Given the description of an element on the screen output the (x, y) to click on. 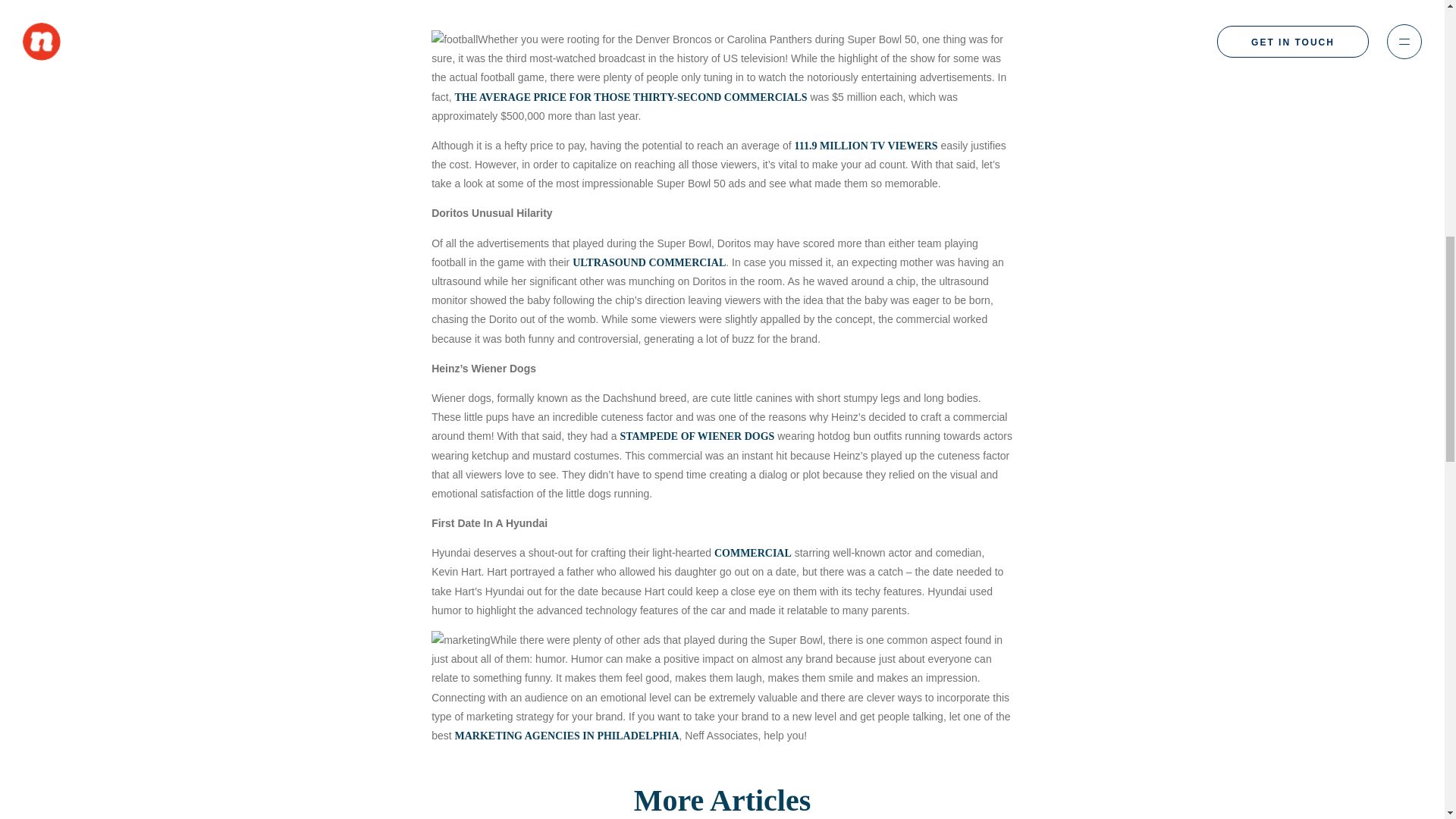
111.9 MILLION TV VIEWERS (865, 145)
MARKETING AGENCIES IN PHILADELPHIA (566, 736)
STAMPEDE OF WIENER DOGS (697, 436)
ULTRASOUND COMMERCIAL (648, 262)
COMMERCIAL (753, 552)
THE AVERAGE PRICE FOR THOSE THIRTY-SECOND COMMERCIALS (631, 97)
